Given the description of an element on the screen output the (x, y) to click on. 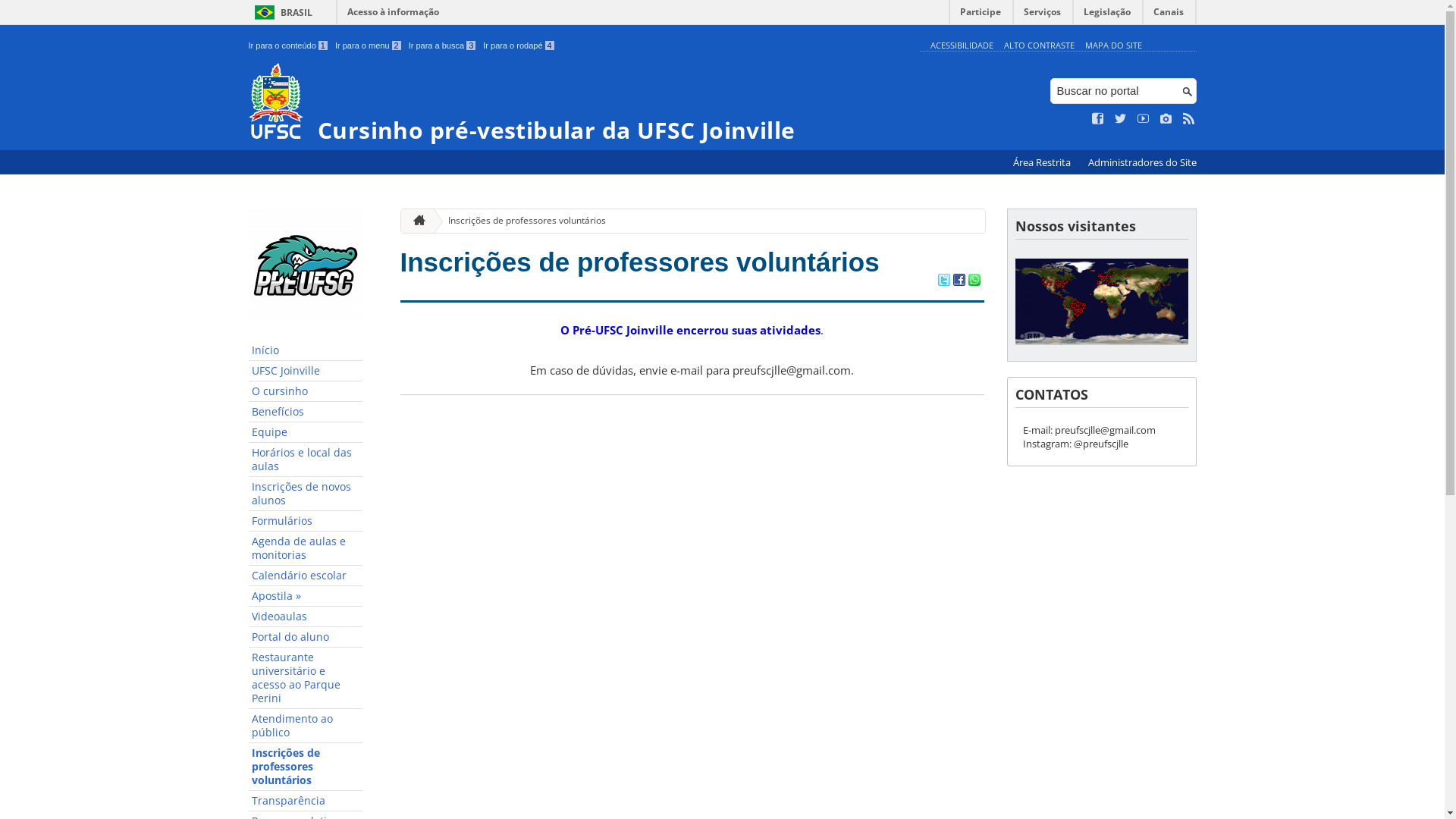
ALTO CONTRASTE Element type: text (1039, 44)
Compartilhar no WhatsApp Element type: hover (973, 280)
Curta no Facebook Element type: hover (1098, 118)
Siga no Twitter Element type: hover (1120, 118)
Agenda de aulas e monitorias Element type: text (305, 548)
Portal do aluno Element type: text (305, 637)
Administradores do Site Element type: text (1141, 162)
Compartilhar no Twitter Element type: hover (943, 280)
BRASIL Element type: text (280, 12)
Canais Element type: text (1169, 15)
MAPA DO SITE Element type: text (1112, 44)
O cursinho Element type: text (305, 391)
UFSC Joinville Element type: text (305, 370)
Videoaulas Element type: text (305, 616)
Compartilhar no Facebook Element type: hover (958, 280)
Ir para a busca 3 Element type: text (442, 45)
Participe Element type: text (980, 15)
Ir para o menu 2 Element type: text (368, 45)
ACESSIBILIDADE Element type: text (960, 44)
Veja no Instagram Element type: hover (1166, 118)
Equipe Element type: text (305, 432)
